Given the description of an element on the screen output the (x, y) to click on. 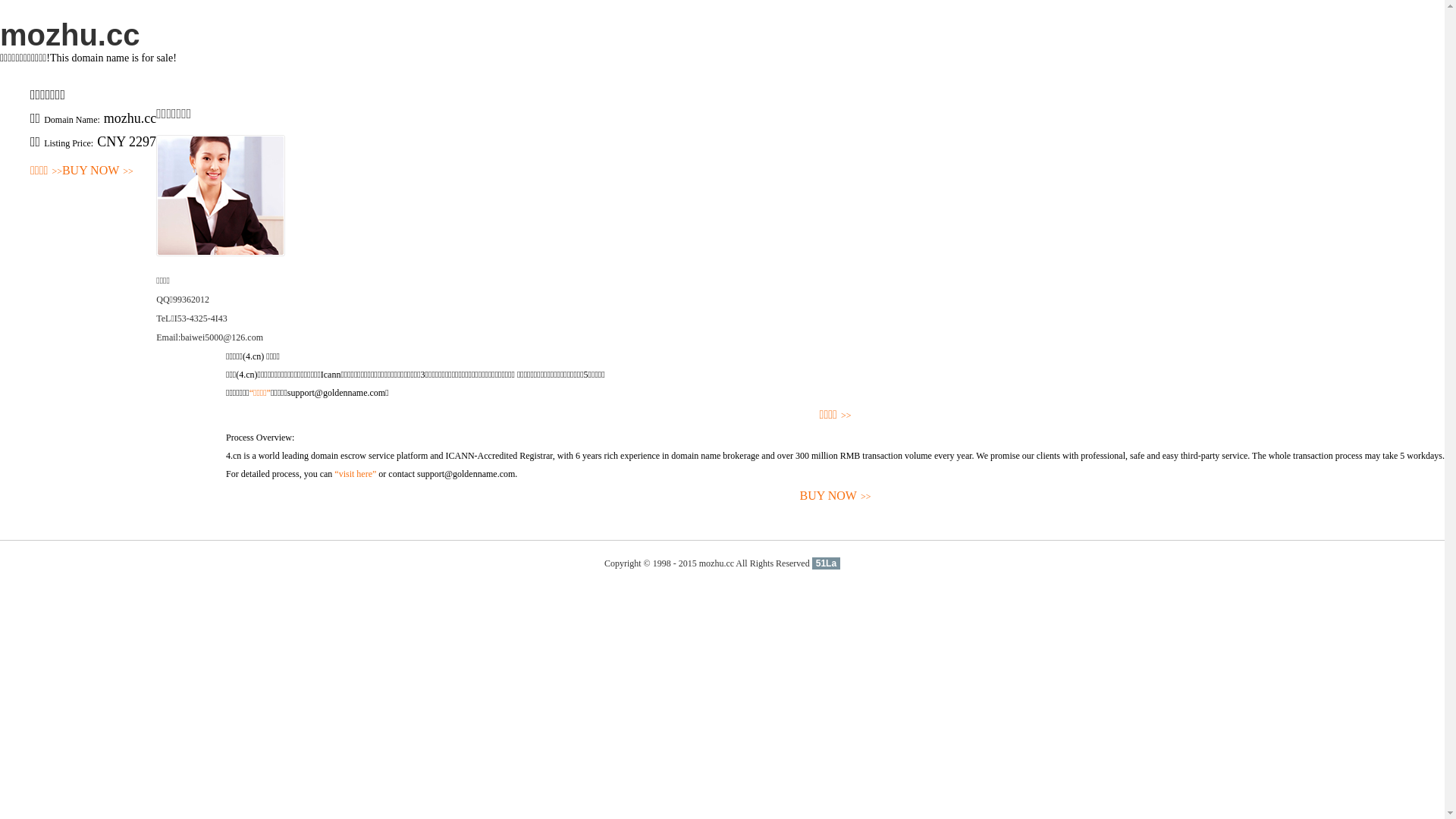
51La Element type: text (826, 563)
BUY NOW>> Element type: text (834, 496)
BUY NOW>> Element type: text (97, 170)
